Given the description of an element on the screen output the (x, y) to click on. 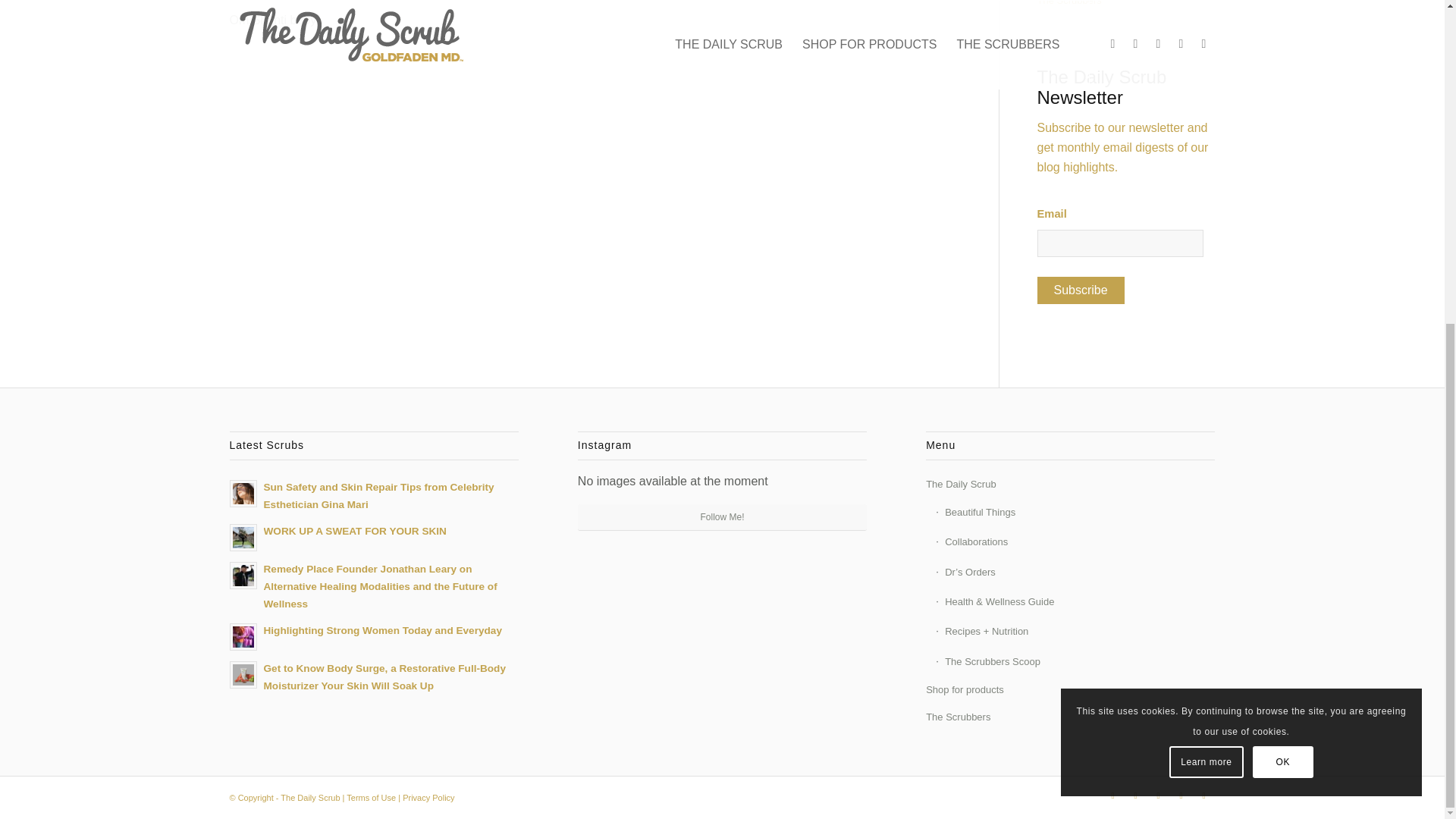
The Scrubbers (1125, 7)
Facebook (1135, 794)
WORK UP A SWEAT FOR YOUR SKIN (373, 535)
Highlighting Strong Women Today and Everyday (373, 634)
Subscribe (1080, 289)
Twitter (1112, 794)
Highlighting Strong Women Today and Everyday (373, 634)
WORK UP A SWEAT FOR YOUR SKIN (373, 535)
Subscribe (1080, 289)
